Given the description of an element on the screen output the (x, y) to click on. 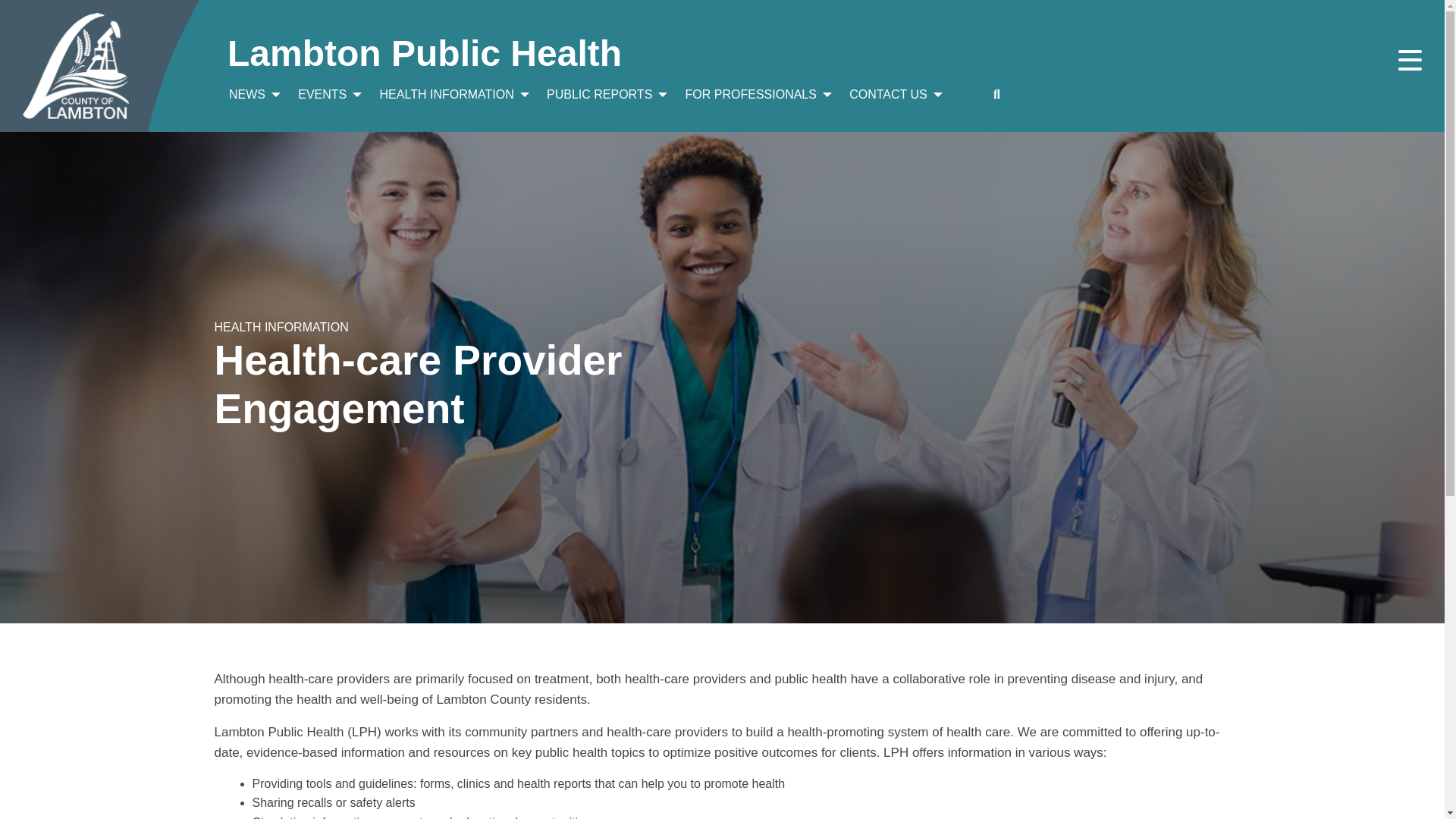
Go to Health Information. (280, 327)
Search for: (699, 72)
Search (1208, 72)
NEWS (252, 94)
Search (1208, 72)
